Given the description of an element on the screen output the (x, y) to click on. 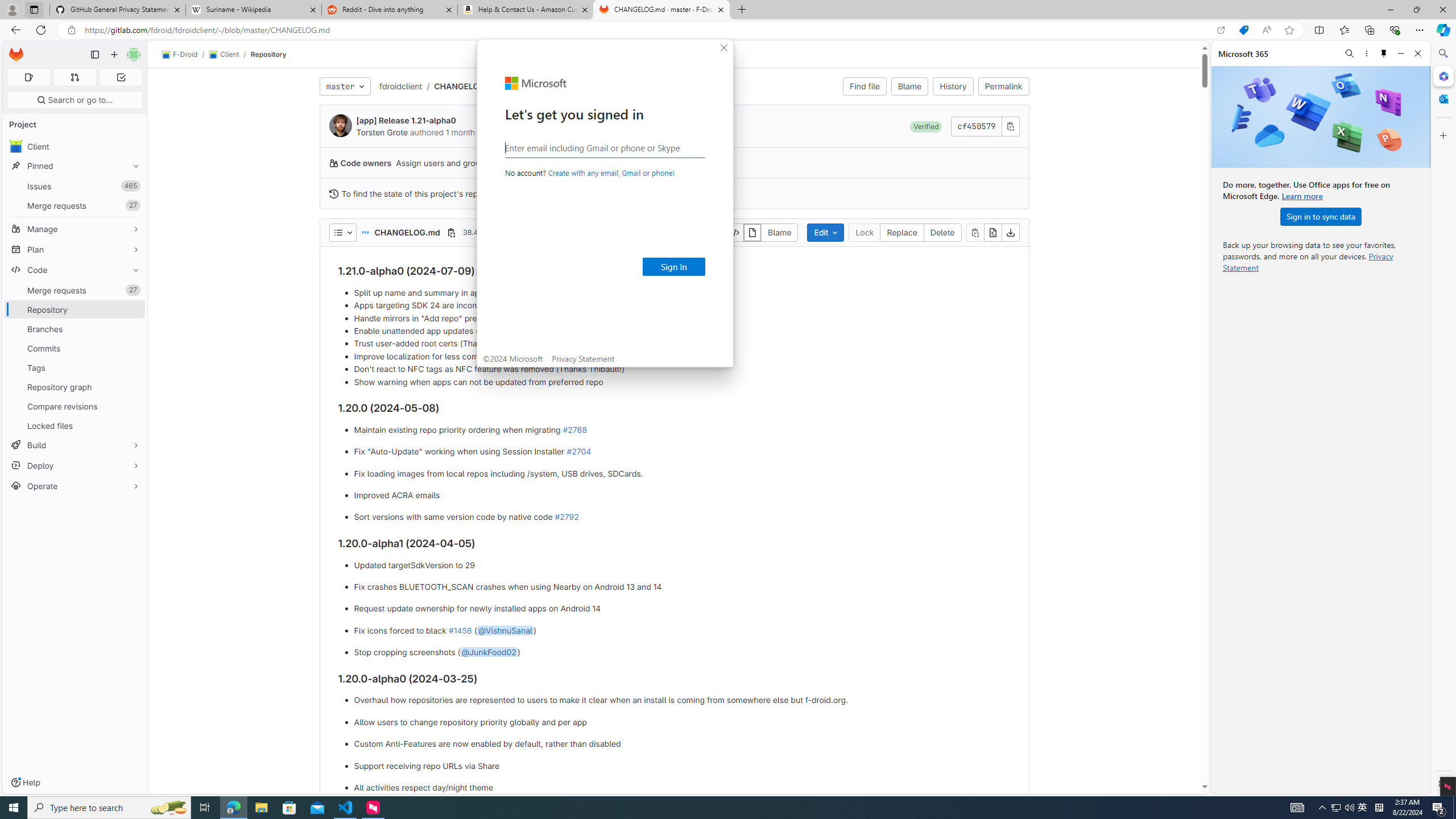
Repository graph (74, 386)
Commits (74, 348)
Repository (268, 53)
GitHub General Privacy Statement - GitHub Docs (117, 9)
AutomationID: 4105 (1297, 807)
Running applications (707, 807)
Manage (74, 228)
Locked files (74, 425)
Sign In (1335, 807)
